Given the description of an element on the screen output the (x, y) to click on. 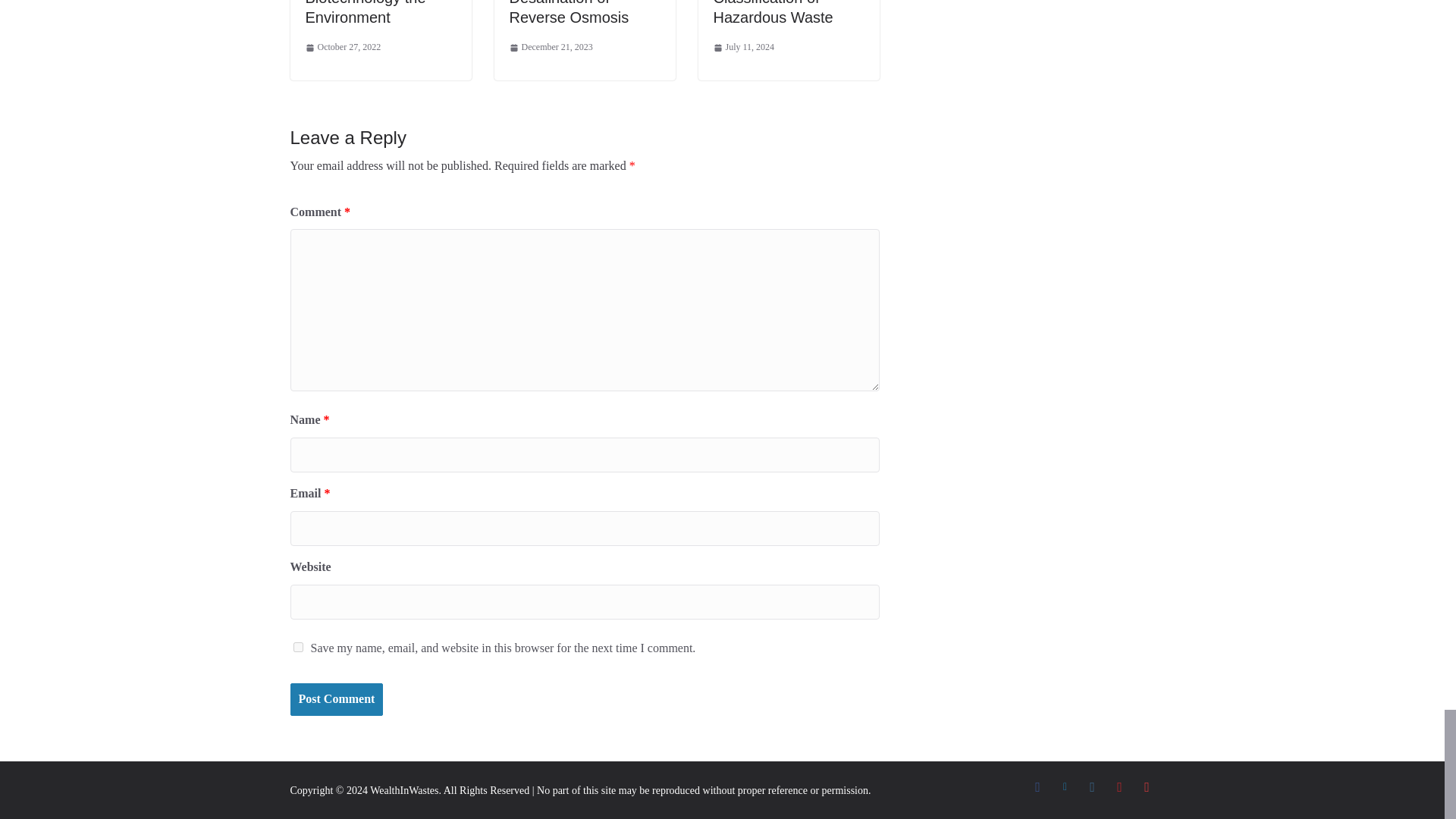
yes (297, 646)
Post Comment (335, 699)
